Given the description of an element on the screen output the (x, y) to click on. 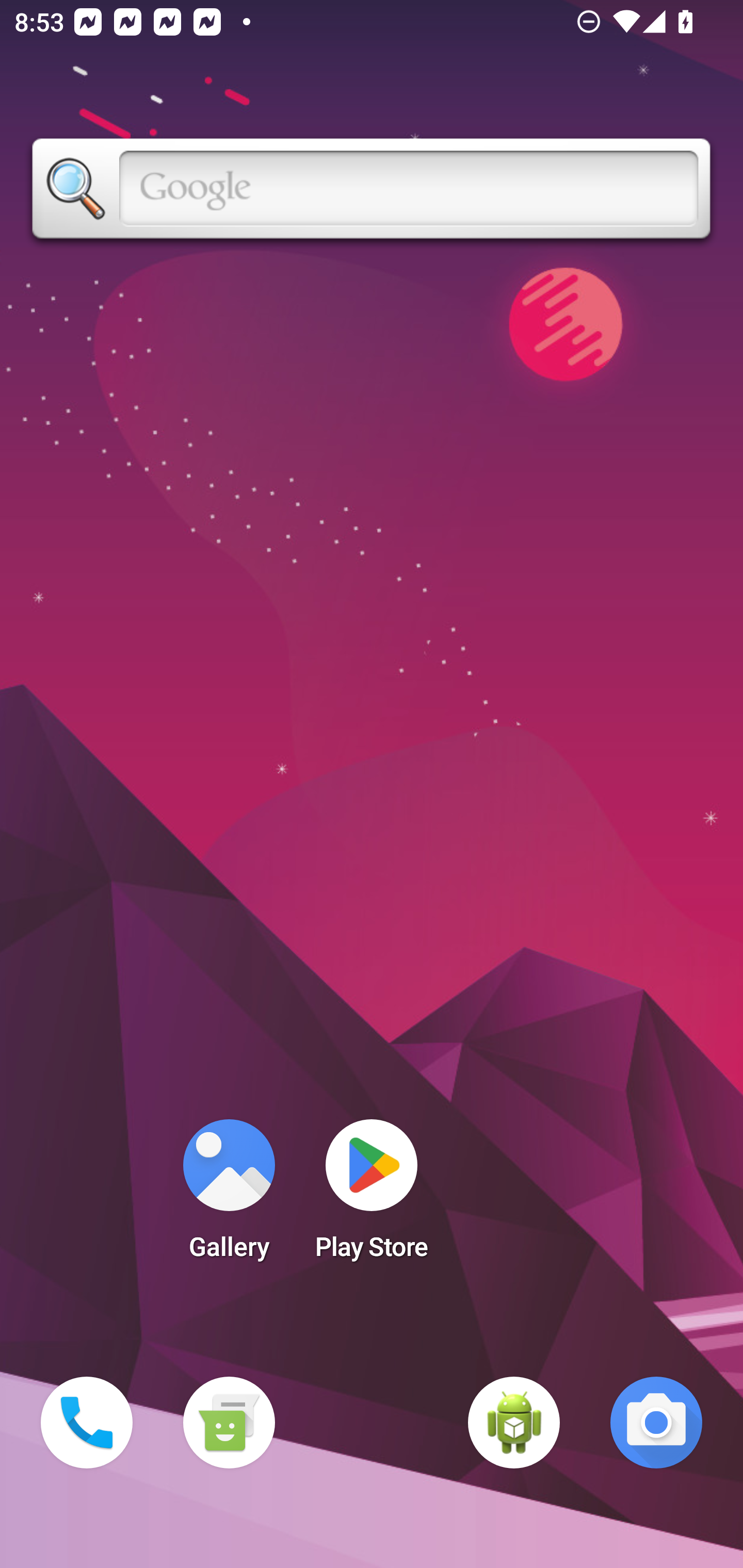
Gallery (228, 1195)
Play Store (371, 1195)
Phone (86, 1422)
Messaging (228, 1422)
WebView Browser Tester (513, 1422)
Camera (656, 1422)
